Given the description of an element on the screen output the (x, y) to click on. 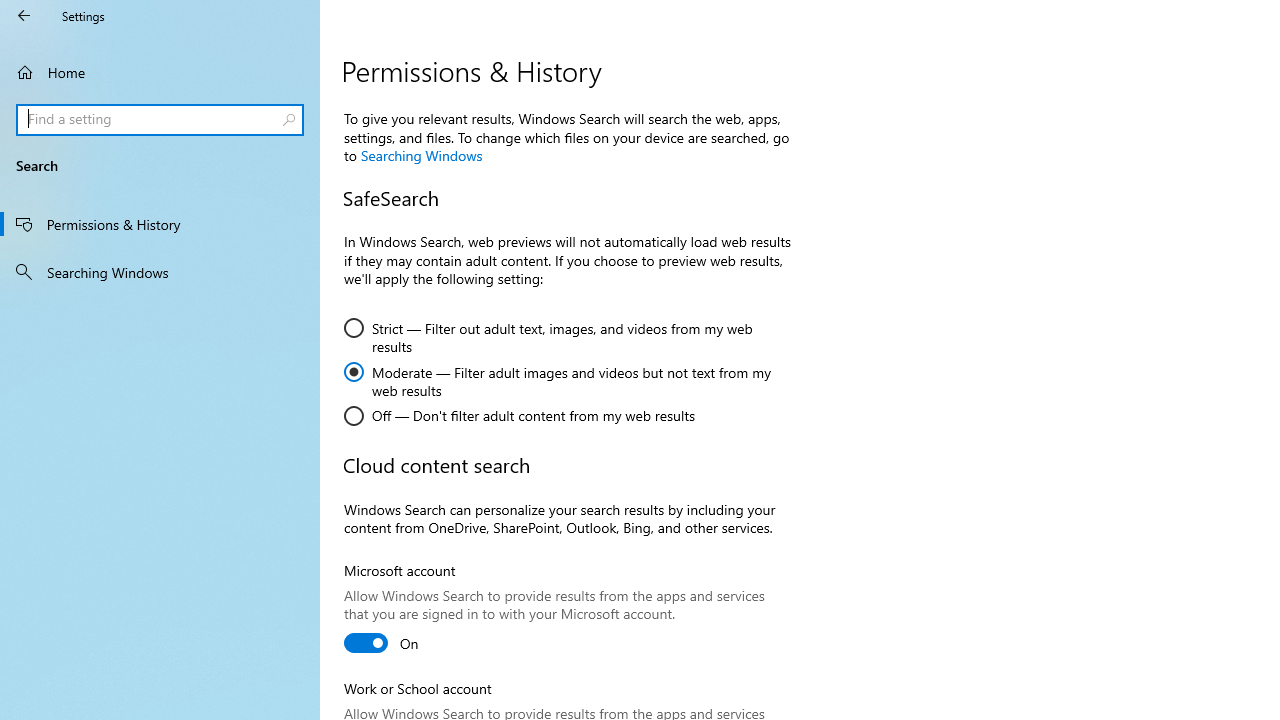
Microsoft account (381, 642)
Search box, Find a setting (160, 119)
Back (24, 15)
Permissions & History (160, 223)
Home (160, 71)
Searching Windows (421, 155)
Searching Windows (160, 271)
